Given the description of an element on the screen output the (x, y) to click on. 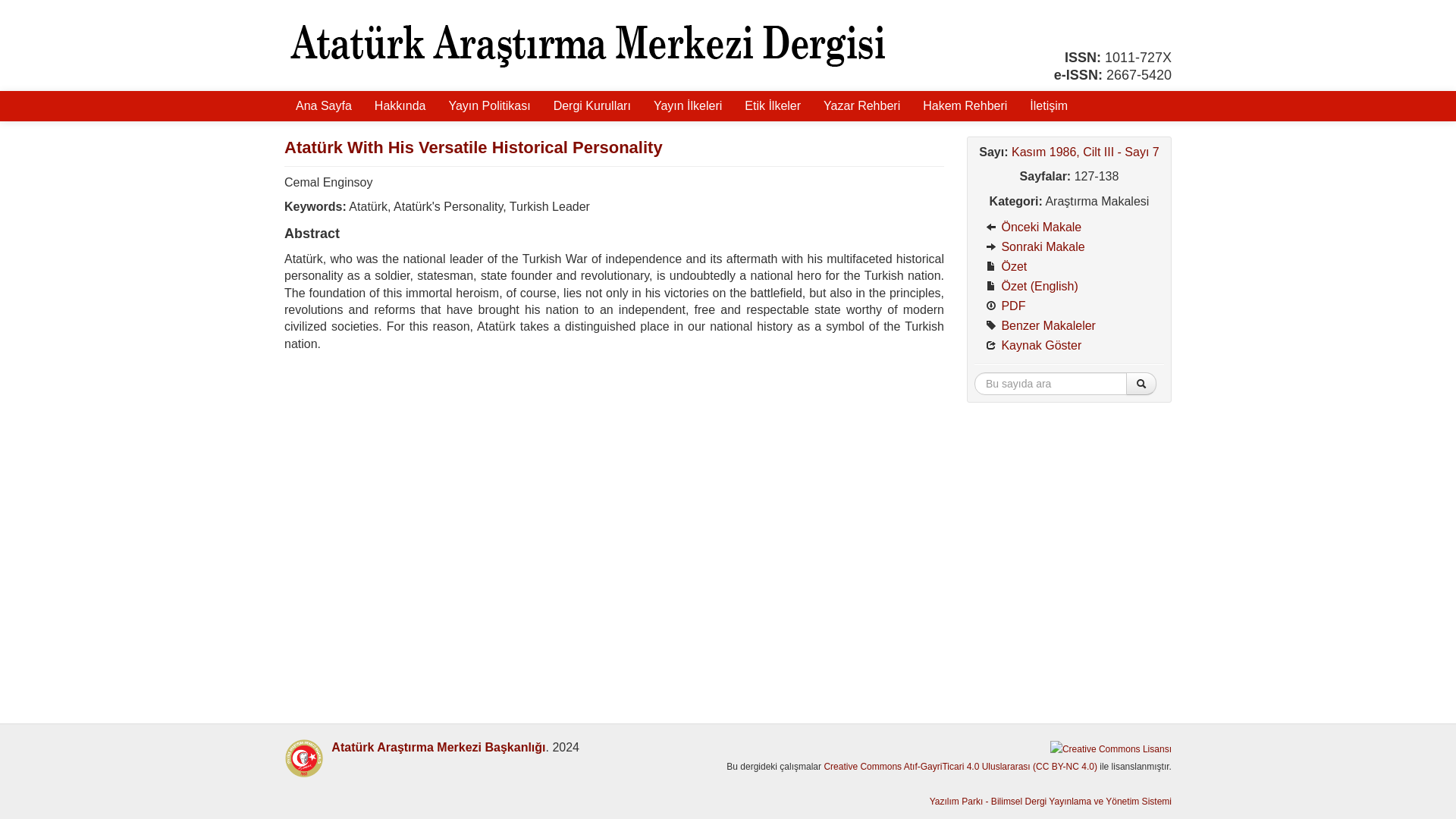
Sonraki Makale (1068, 247)
Ana Sayfa (322, 105)
Hakem Rehberi (964, 105)
PDF (1068, 306)
Benzer Makaleler (1068, 325)
Yazar Rehberi (861, 105)
